Given the description of an element on the screen output the (x, y) to click on. 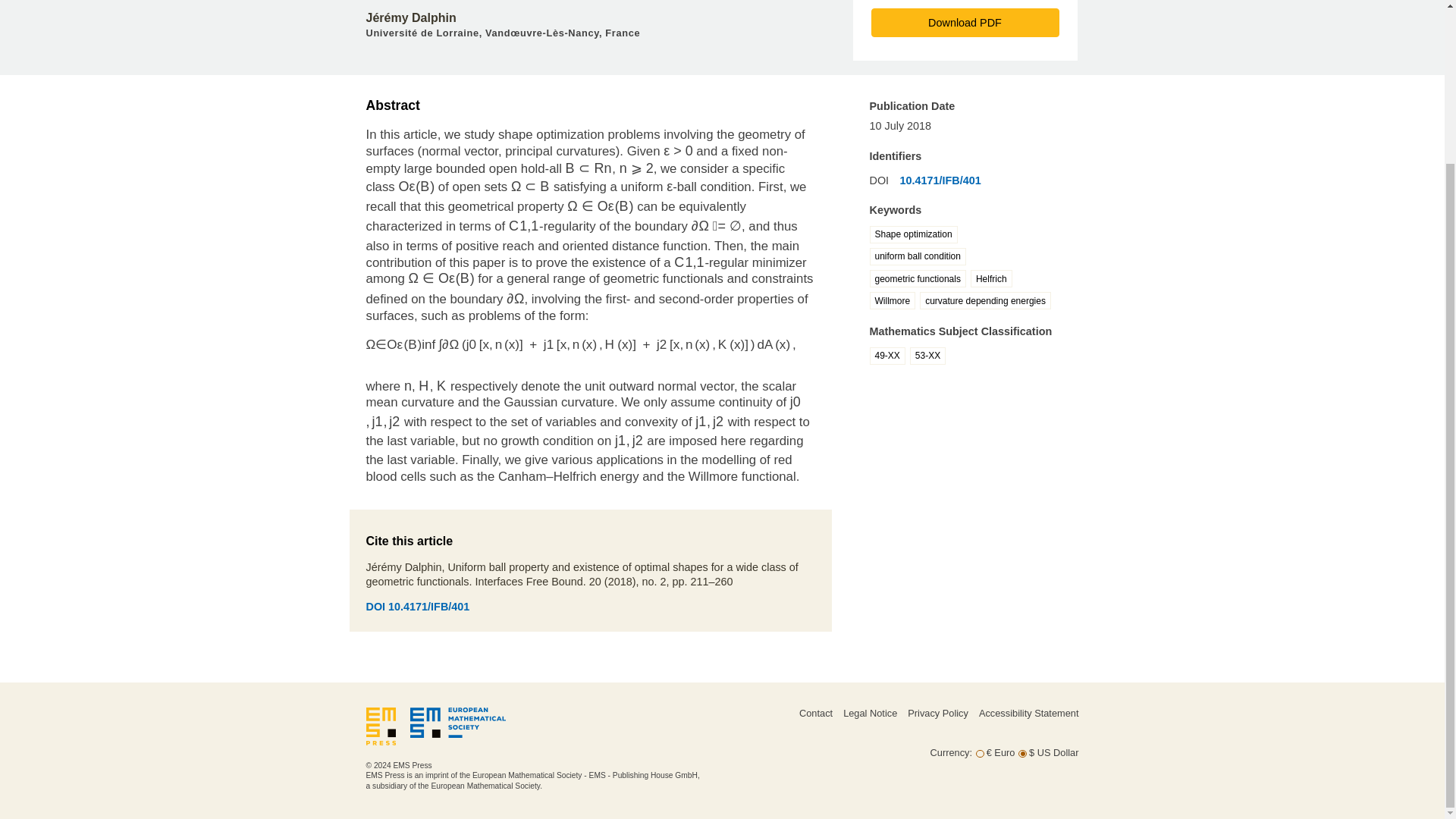
Legal Notice (869, 713)
EUR (979, 754)
Accessibility Statement (1028, 713)
Privacy Policy (937, 713)
Contact (815, 713)
USD (1021, 754)
Footer Navigation (889, 727)
Download PDF (964, 22)
